Given the description of an element on the screen output the (x, y) to click on. 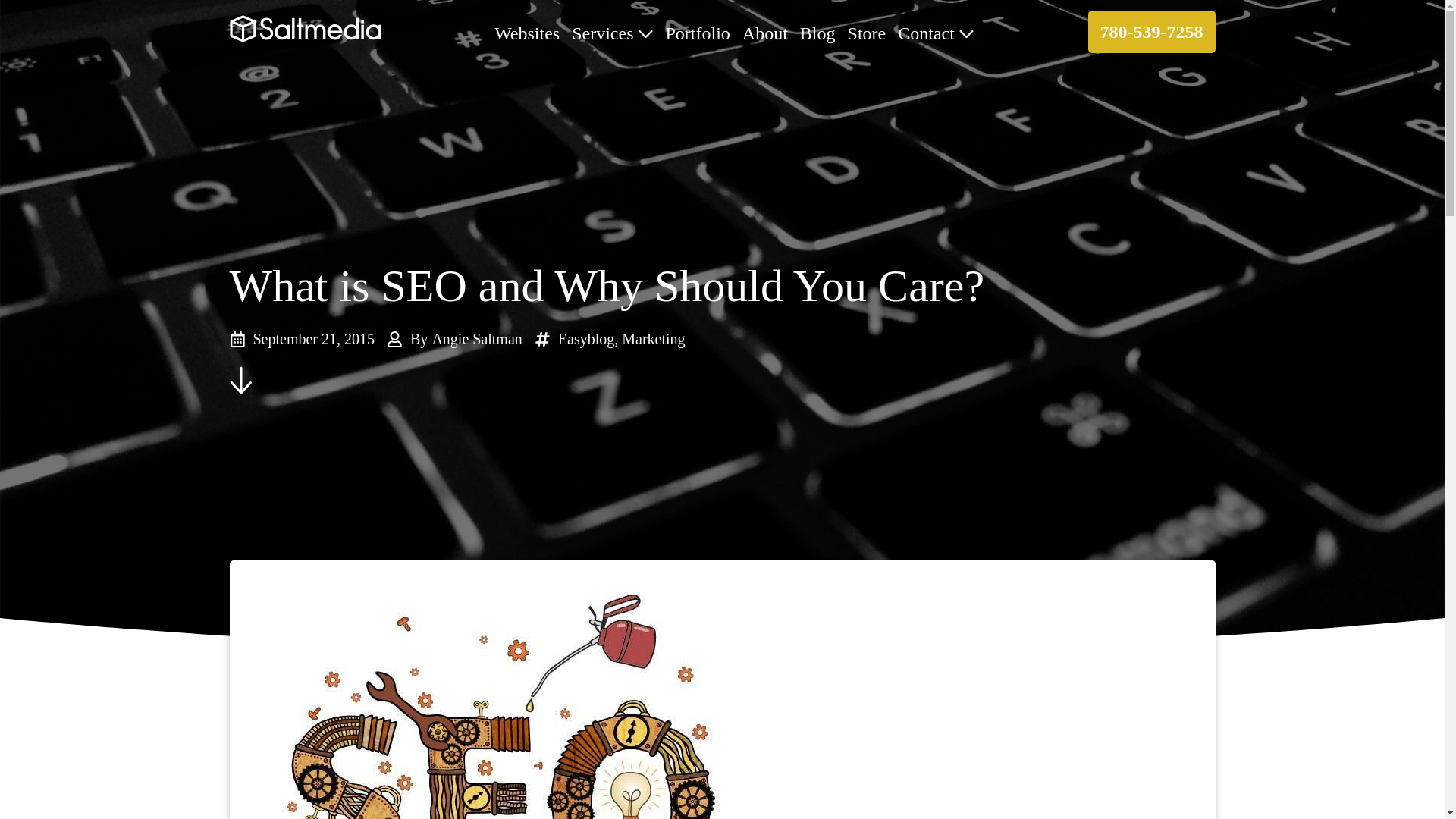
Angie Saltman (475, 338)
Portfolio (697, 31)
Easyblog (585, 338)
Contact (935, 31)
780-539-7258 (1151, 31)
Websites (526, 31)
Services (612, 31)
About (764, 31)
Marketing (652, 338)
